Given the description of an element on the screen output the (x, y) to click on. 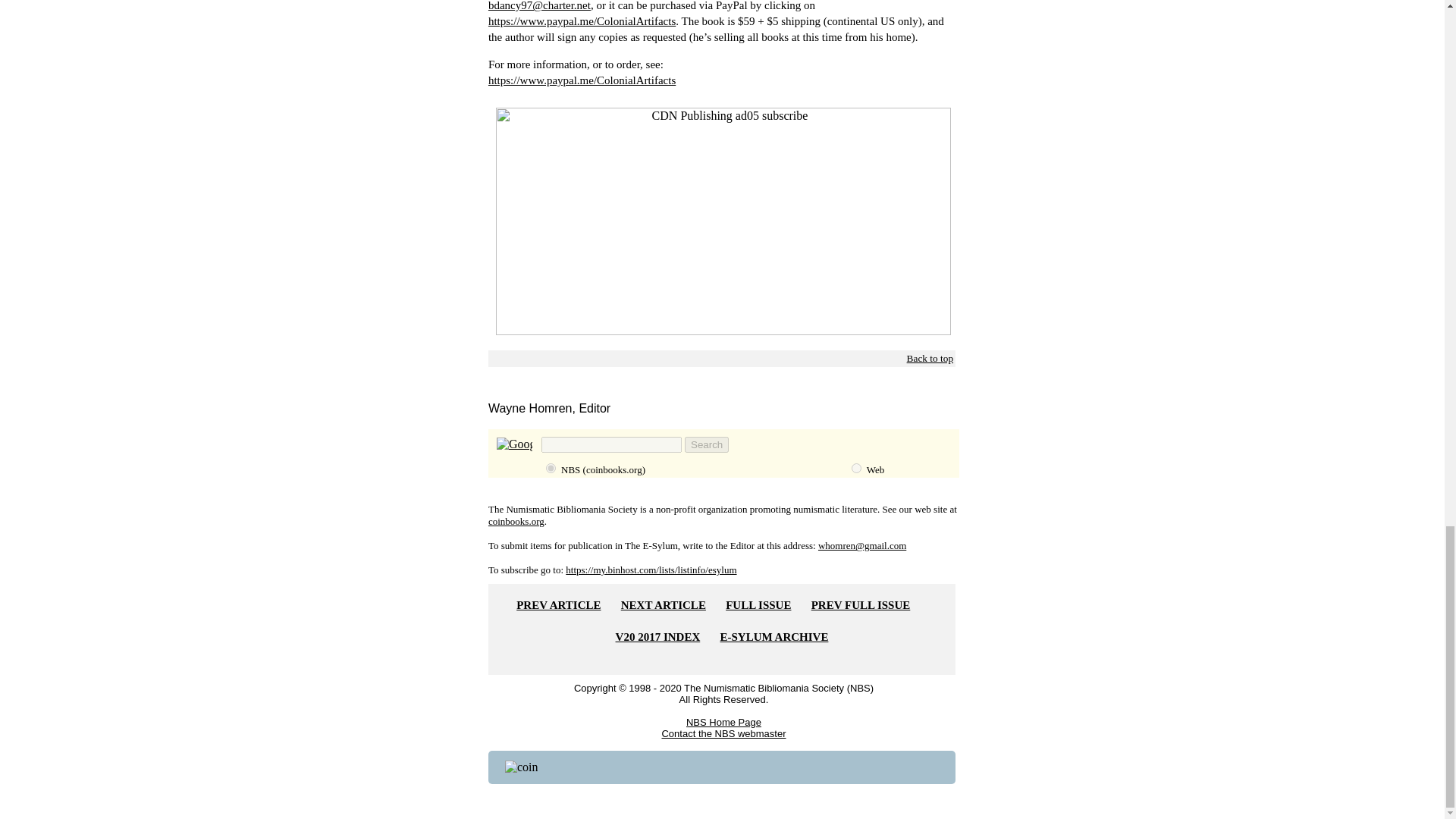
Search (706, 444)
V20 2017 INDEX (657, 636)
NBS Home Page (723, 722)
CDN Publishing ad05 subscribe (722, 330)
PREV ARTICLE (557, 604)
coinbooks.org (551, 468)
PREV FULL ISSUE (860, 604)
E-SYLUM ARCHIVE (773, 636)
FULL ISSUE (757, 604)
coinbooks.org (515, 521)
